Given the description of an element on the screen output the (x, y) to click on. 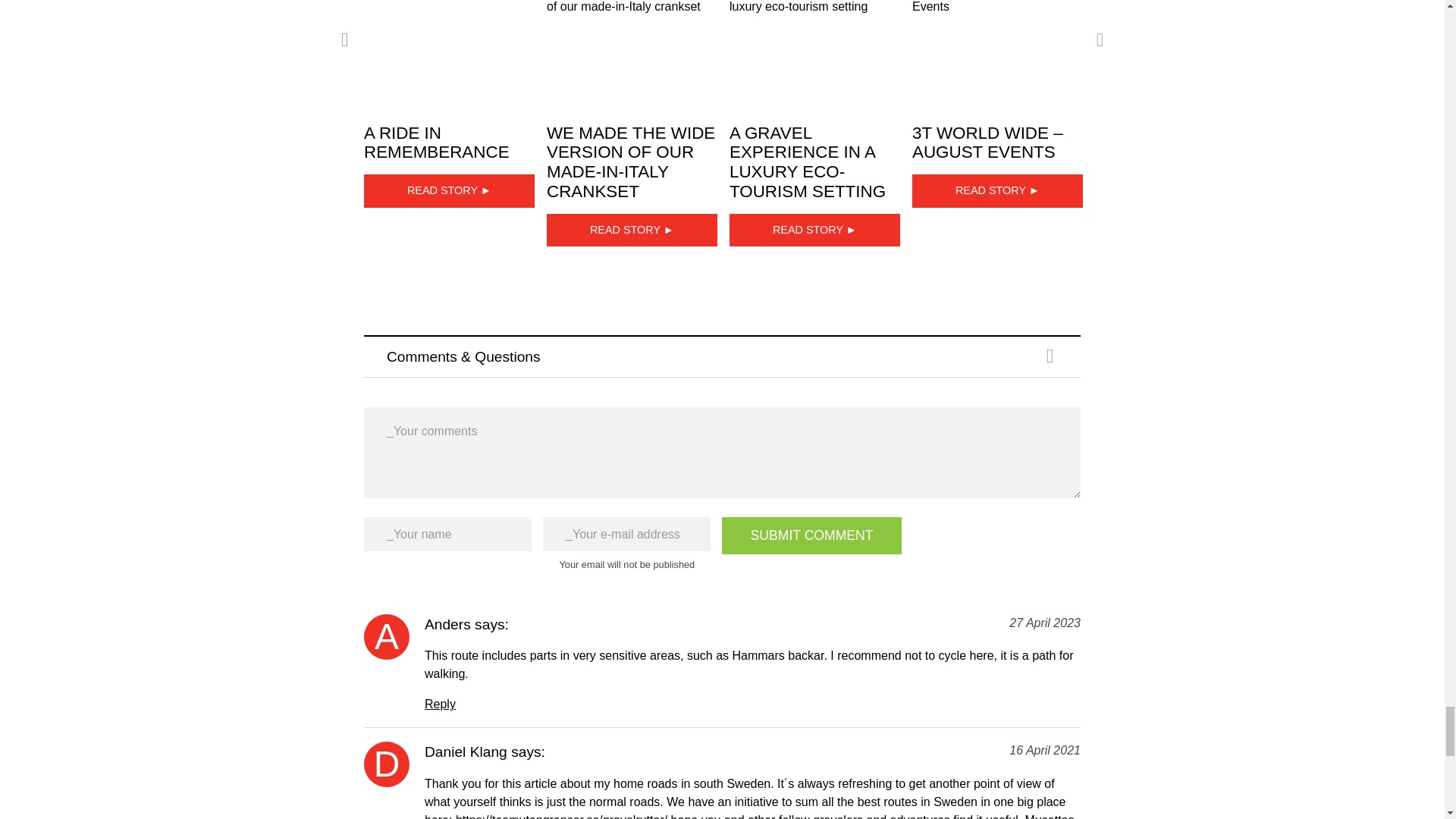
A Ride in Rememberance (449, 50)
A gravel experience in a luxury eco-tourism setting (814, 50)
Submit comment (811, 534)
We made the WIDE version of our made-in-Italy crankset (632, 50)
